Given the description of an element on the screen output the (x, y) to click on. 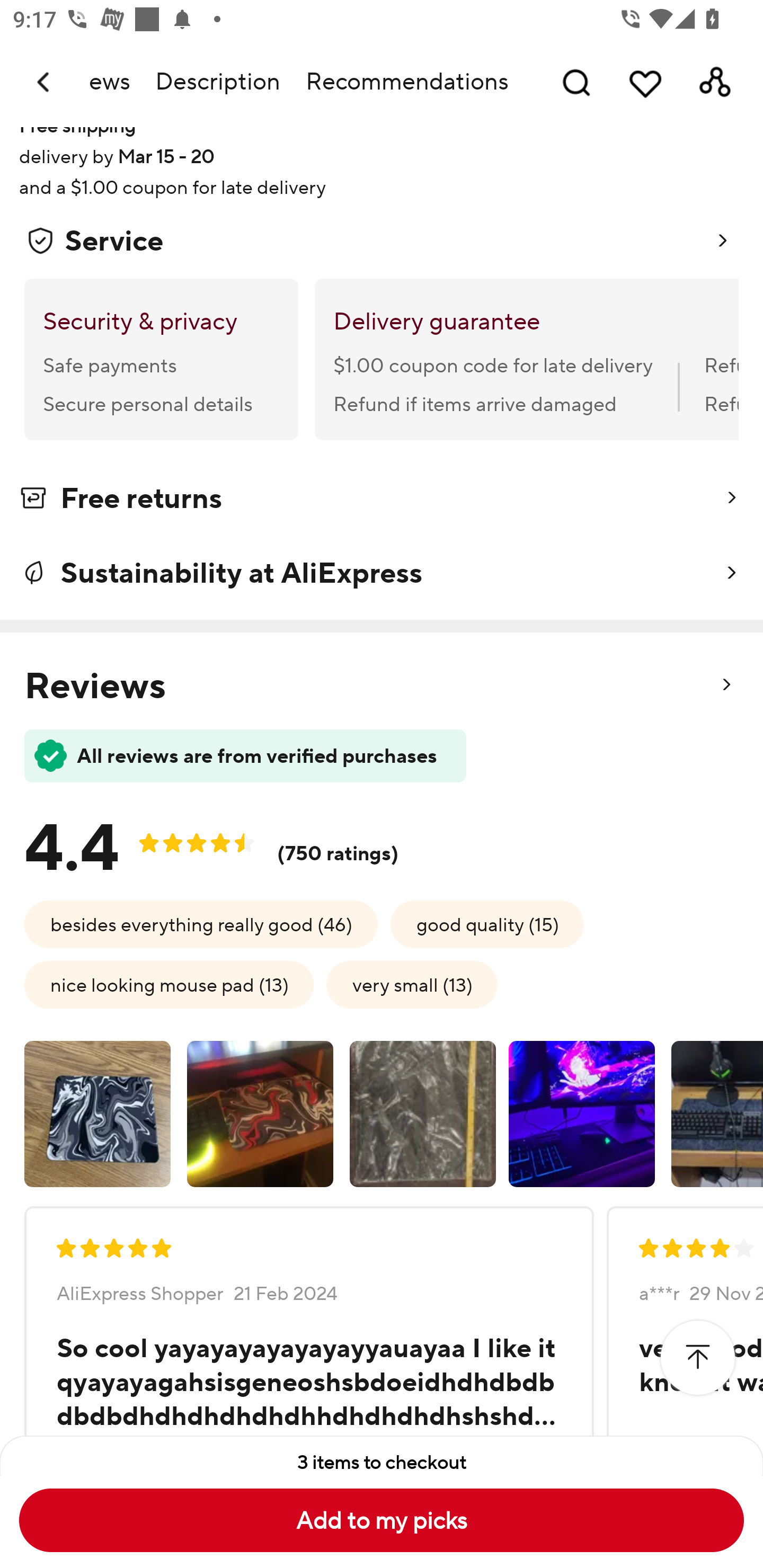
Navigate up (44, 82)
Reviews (115, 81)
Description (217, 81)
Recommendations (406, 81)
Free returns  (381, 500)
Sustainability at AliExpress  (381, 572)
besides everything really good (46) (200, 924)
good quality (15) (486, 924)
nice looking mouse pad (13) (168, 984)
very small (13) (411, 984)
 (697, 1357)
Add to my picks (381, 1520)
